Given the description of an element on the screen output the (x, y) to click on. 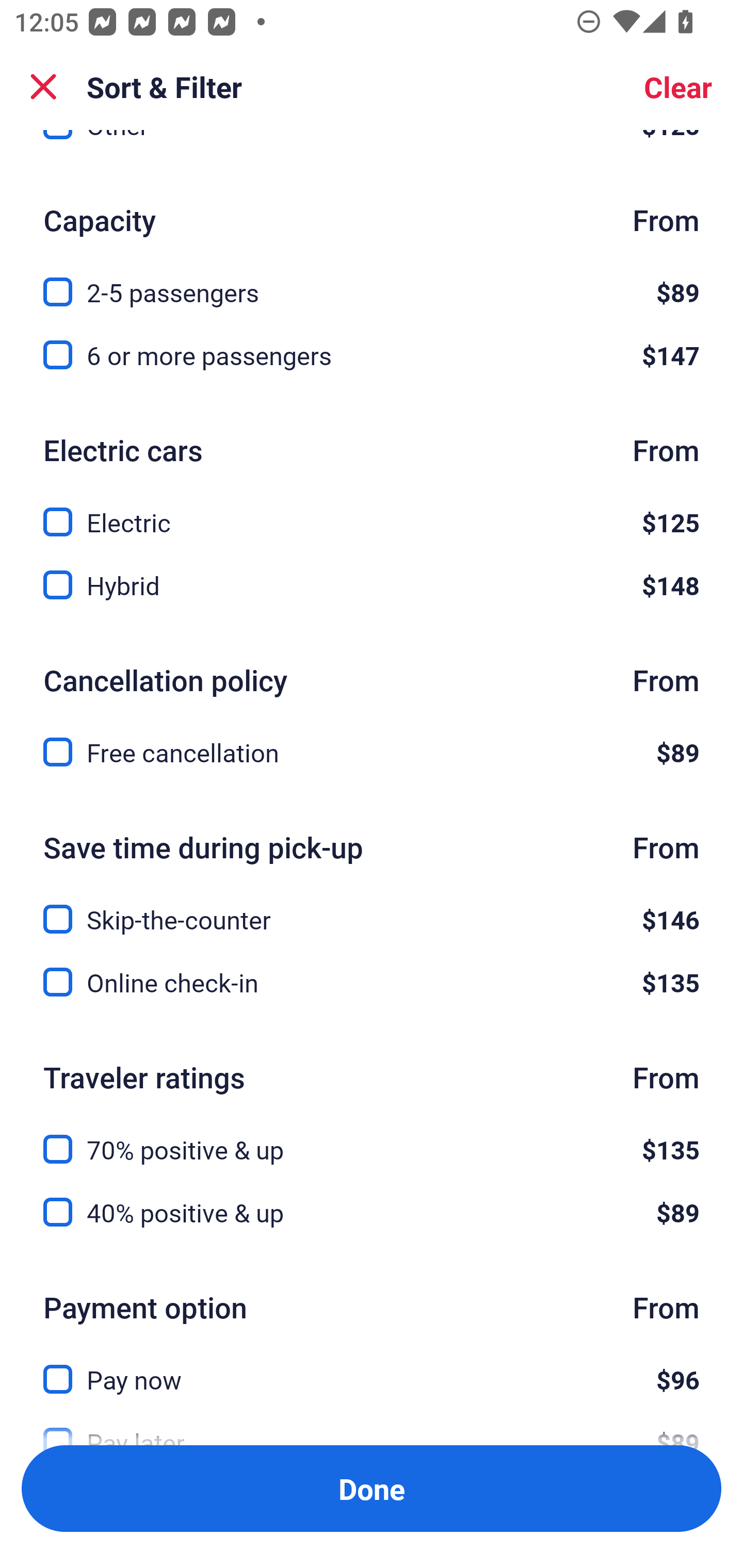
Close Sort and Filter (43, 86)
Clear (677, 86)
2-5 passengers, $89 2-5 passengers $89 (371, 280)
Electric, $125 Electric $125 (371, 510)
Hybrid, $148 Hybrid $148 (371, 585)
Free cancellation, $89 Free cancellation $89 (371, 752)
Skip-the-counter, $146 Skip-the-counter $146 (371, 907)
Online check-in, $135 Online check-in $135 (371, 982)
70% positive & up, $135 70% positive & up $135 (371, 1138)
40% positive & up, $89 40% positive & up $89 (371, 1212)
Pay now, $96 Pay now $96 (371, 1366)
Apply and close Sort and Filter Done (371, 1488)
